Given the description of an element on the screen output the (x, y) to click on. 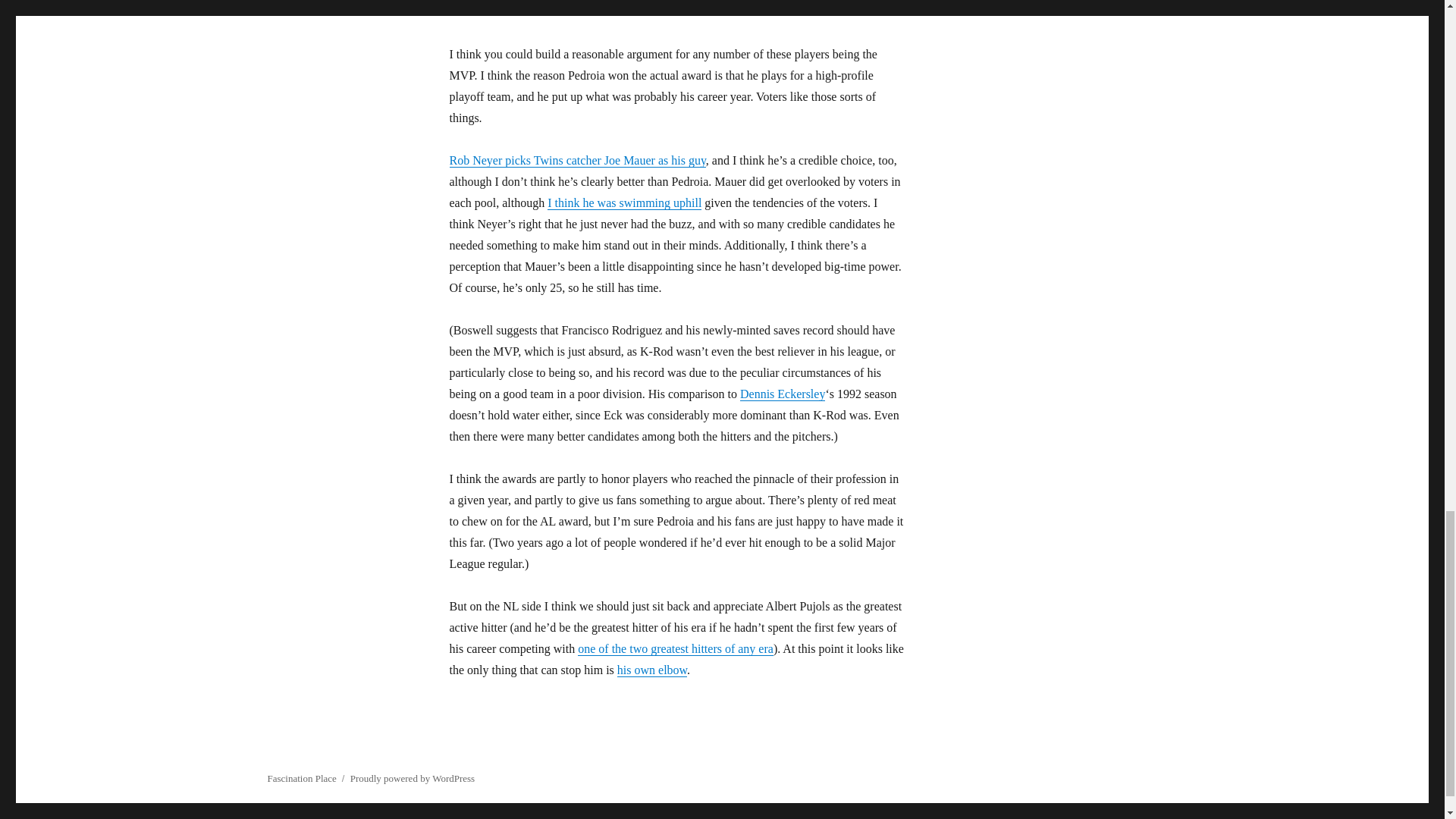
one of the two greatest hitters of any era (675, 648)
Dennis Eckersley (782, 393)
I think he was swimming uphill (624, 202)
his own elbow (652, 669)
Rob Neyer picks Twins catcher Joe Mauer as his guy (576, 160)
